Given the description of an element on the screen output the (x, y) to click on. 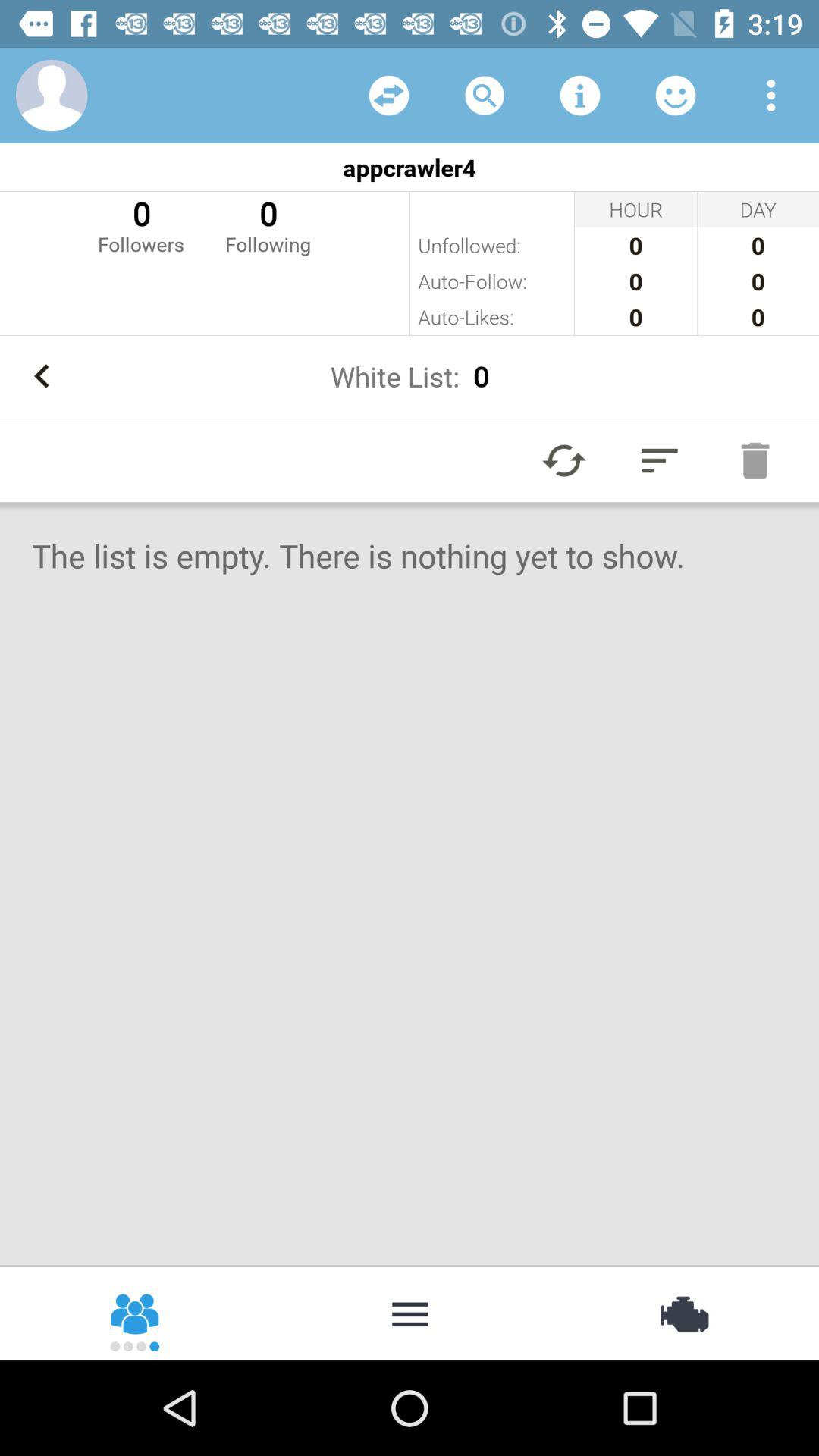
select the item above the appcrawler4 (675, 95)
